Given the description of an element on the screen output the (x, y) to click on. 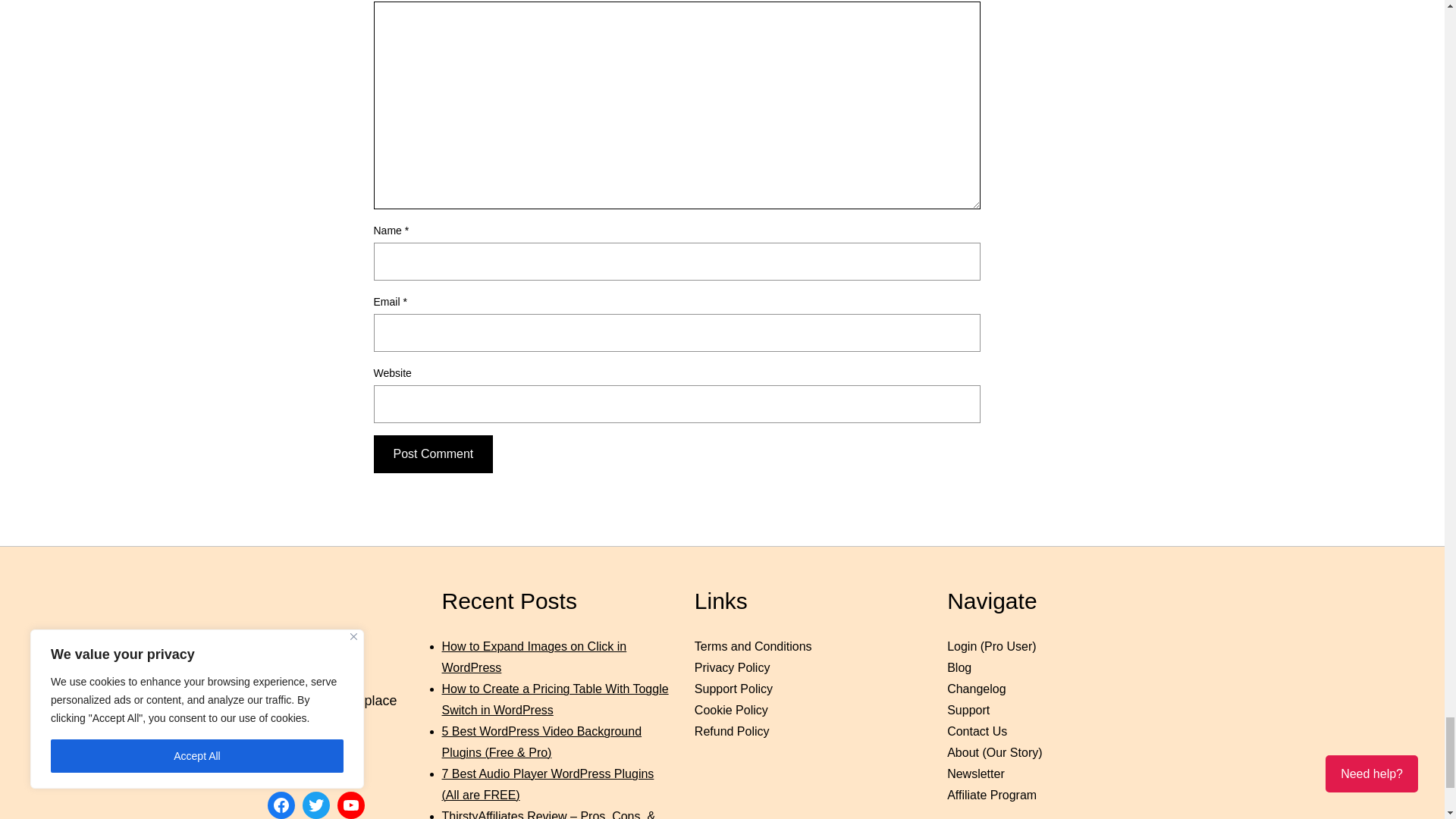
Post Comment (432, 453)
